Given the description of an element on the screen output the (x, y) to click on. 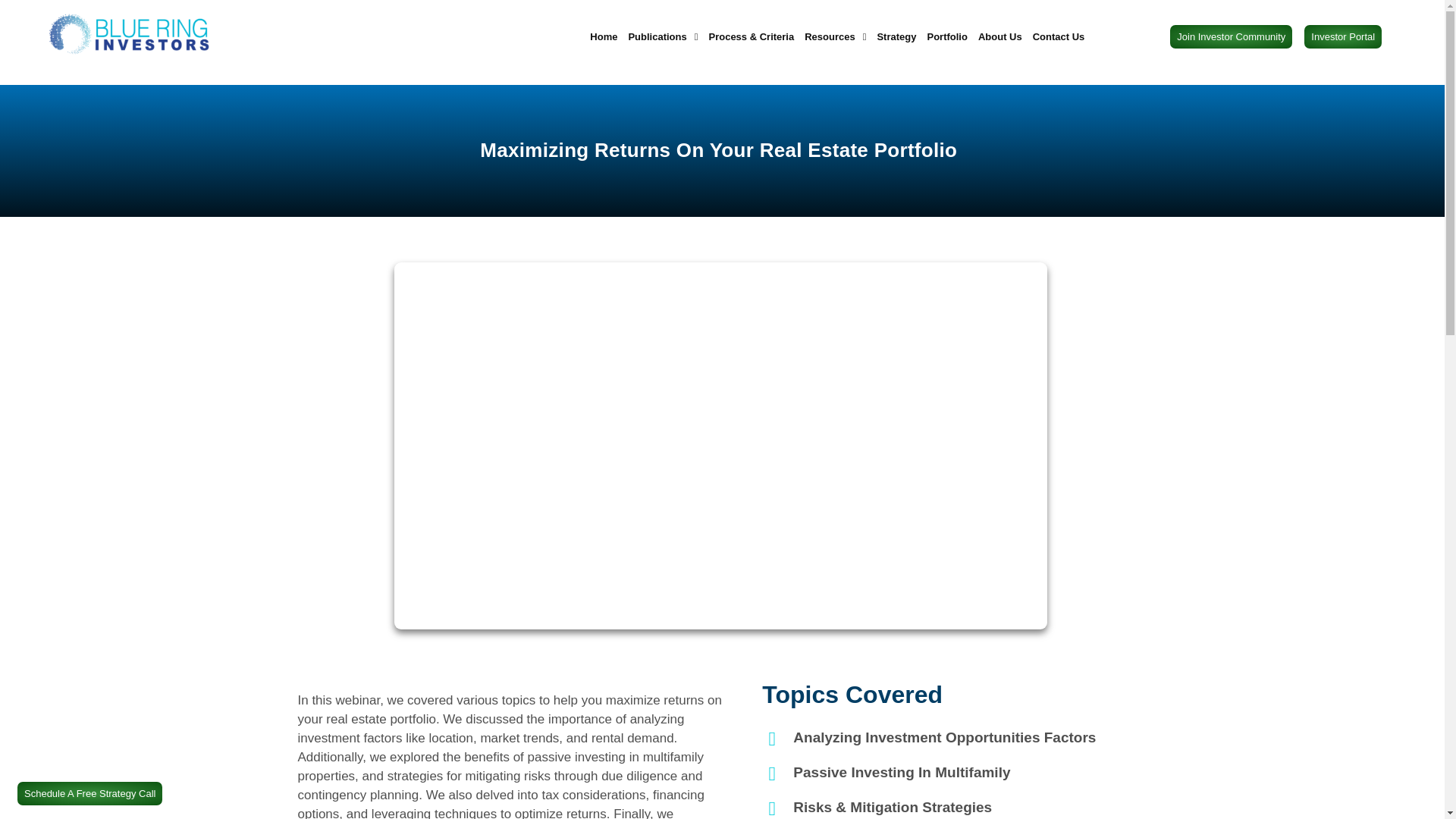
Strategy (895, 36)
Publications (663, 36)
Portfolio (946, 36)
Resources (834, 36)
Contact Us (1058, 36)
About Us (999, 36)
Home (604, 36)
